Given the description of an element on the screen output the (x, y) to click on. 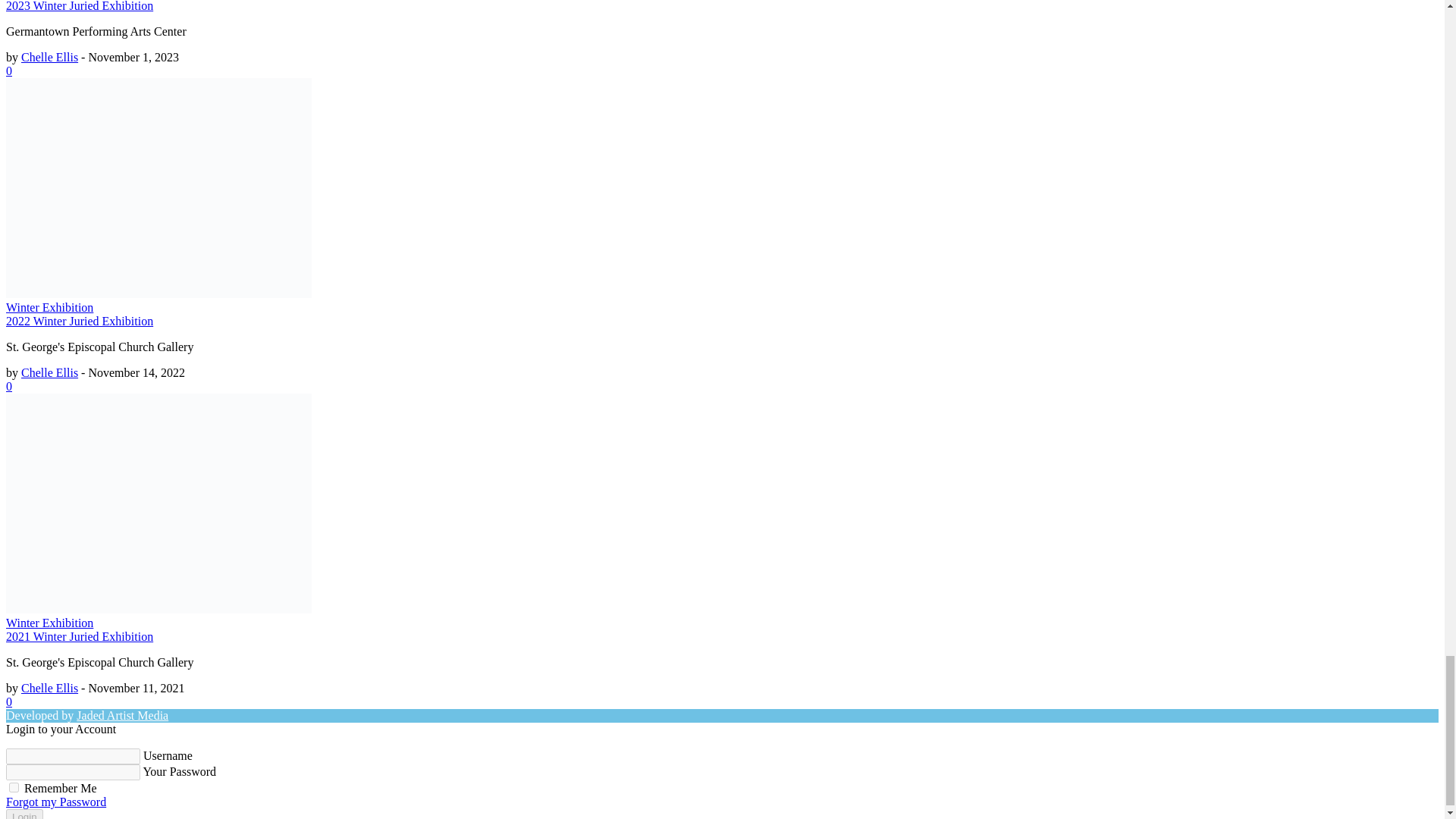
All posts from Winter Exhibition (49, 307)
All posts from Winter Exhibition (49, 622)
forever (13, 787)
